Given the description of an element on the screen output the (x, y) to click on. 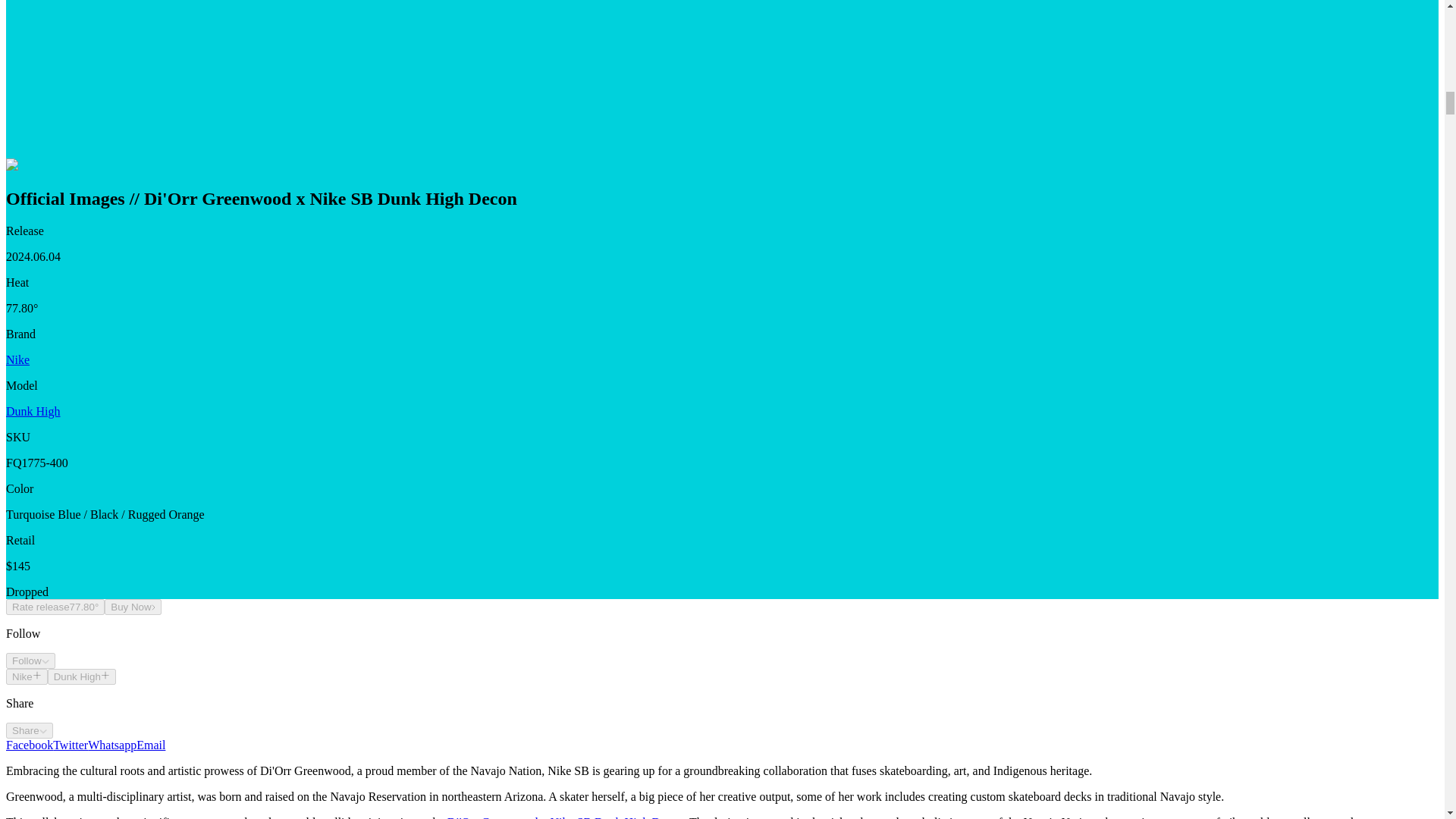
Di'Orr Greenwood x Nike SB Dunk High Decon (565, 817)
Facebook (28, 744)
Follow (30, 660)
Twitter (69, 744)
Nike (17, 359)
Whatsapp (111, 744)
Dunk High (82, 676)
Share (28, 730)
Nike (26, 676)
Email (150, 744)
Buy Now (132, 606)
Dunk High (33, 410)
